Given the description of an element on the screen output the (x, y) to click on. 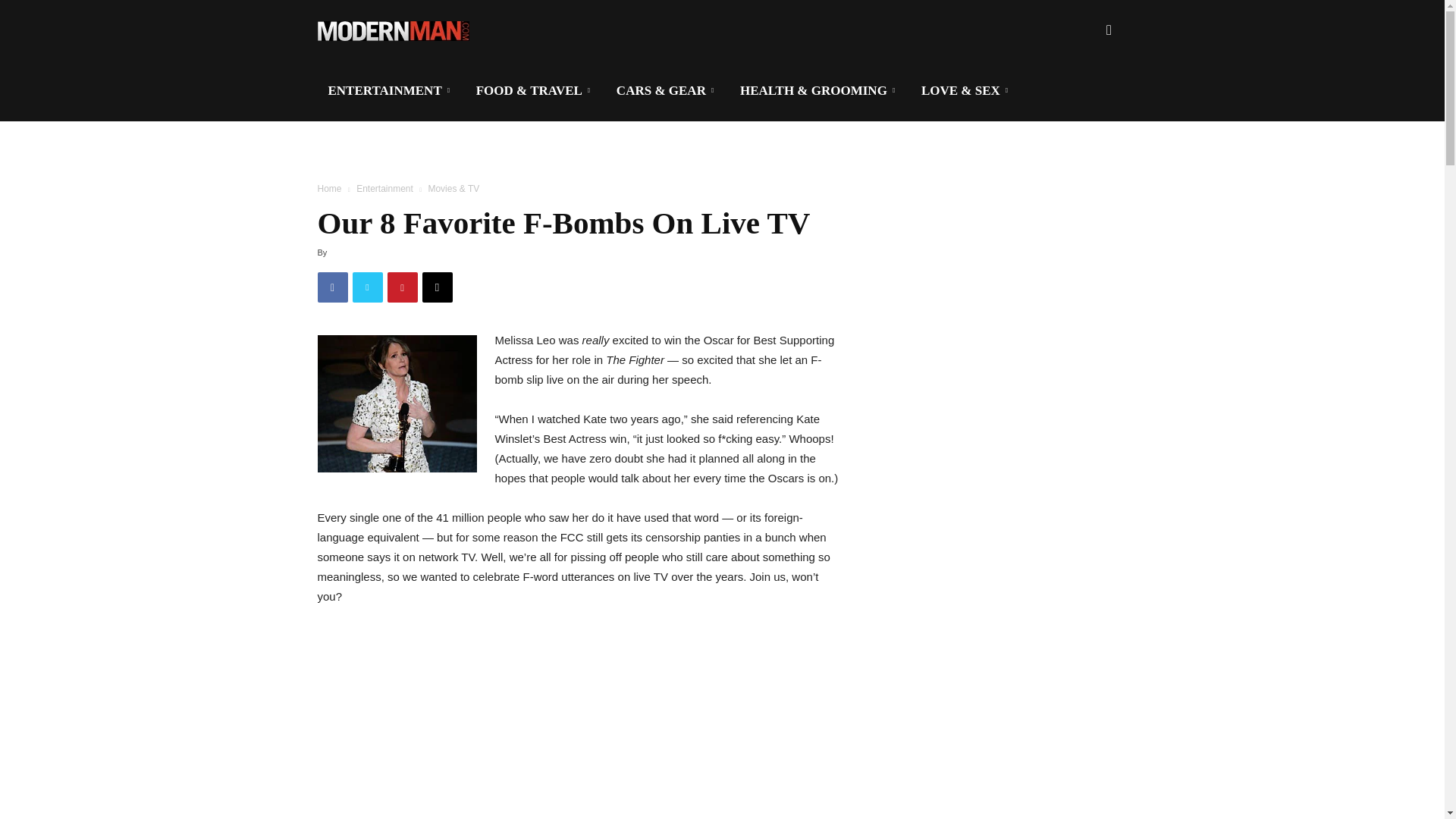
oscarsb (396, 403)
Modern Man (392, 30)
View all posts in Entertainment (384, 188)
Search (1085, 102)
